Given the description of an element on the screen output the (x, y) to click on. 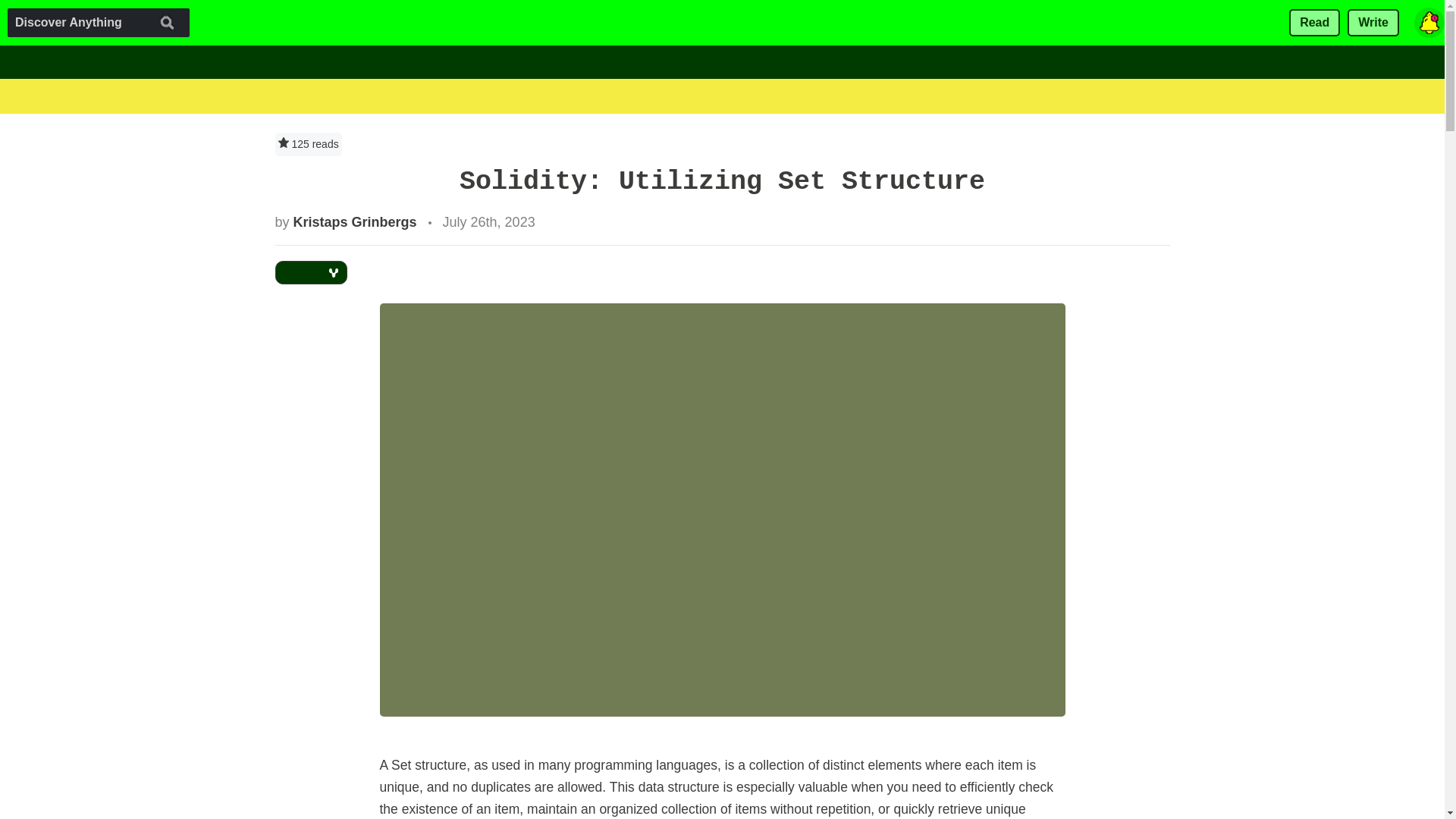
Kristaps Grinbergs (355, 222)
Write (1373, 22)
Read (1313, 22)
